Given the description of an element on the screen output the (x, y) to click on. 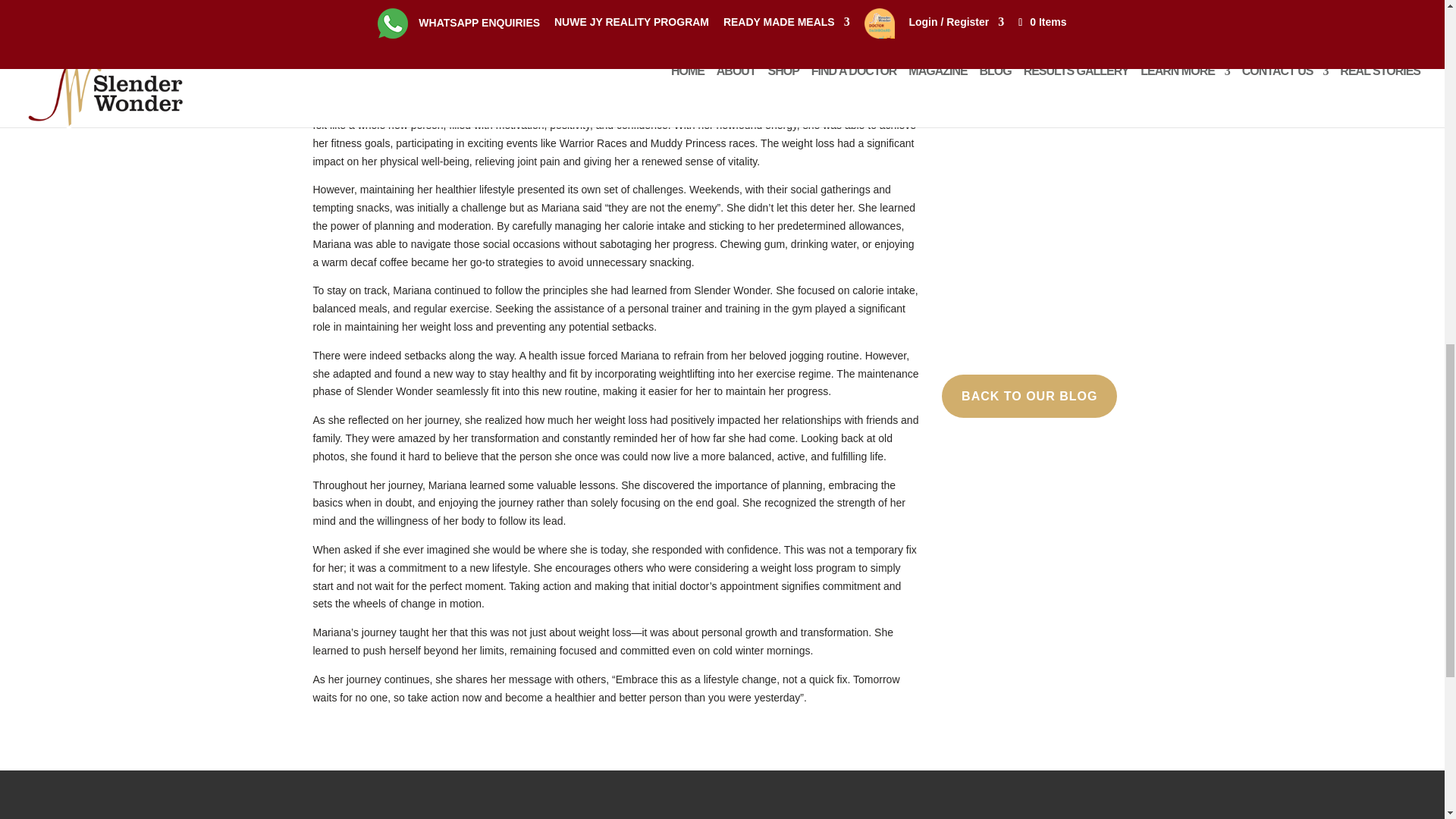
BACK TO OUR BLOG (1029, 395)
